Given the description of an element on the screen output the (x, y) to click on. 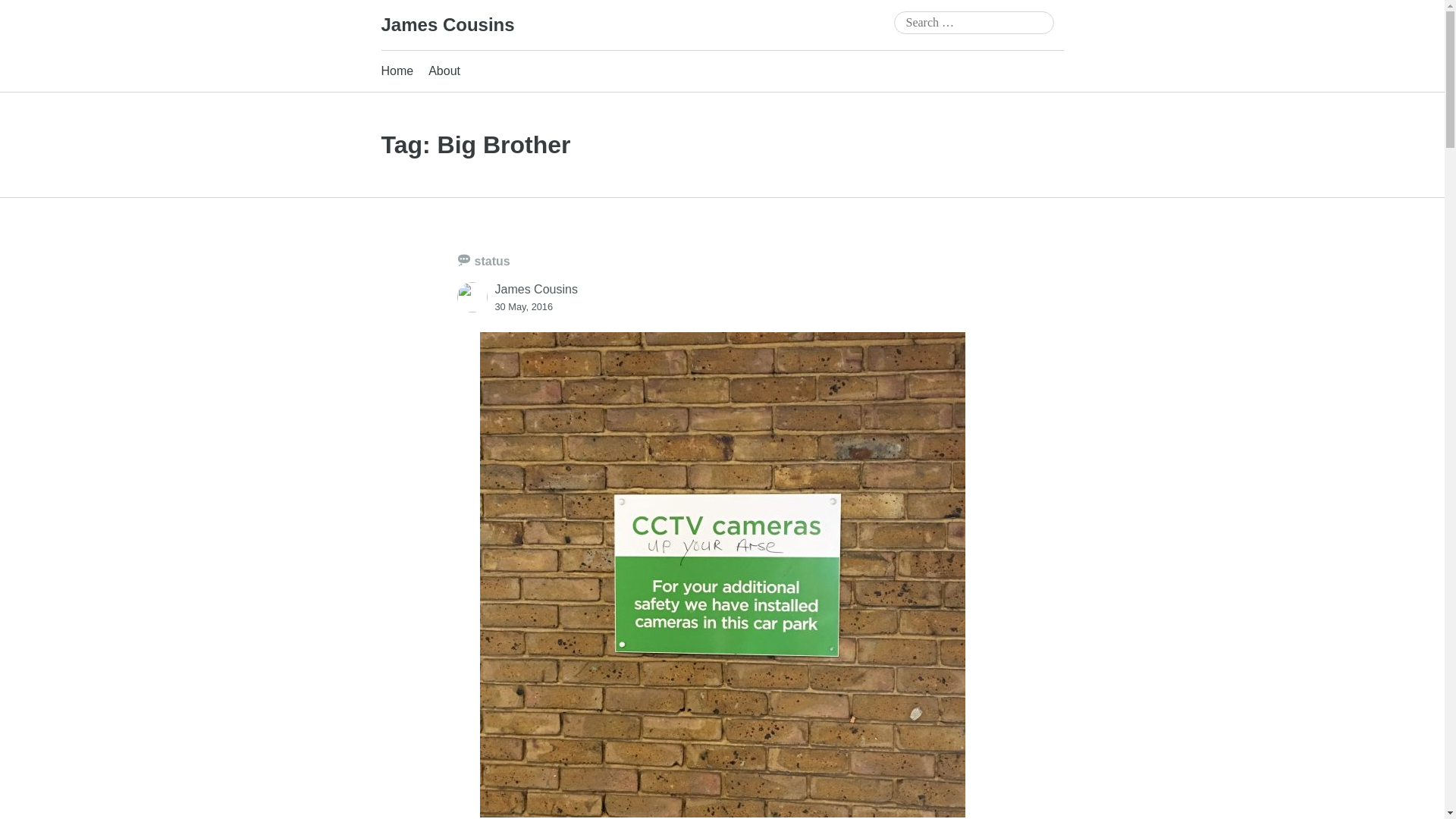
View all posts by James Cousins (535, 288)
About (444, 70)
Search (32, 14)
Search (25, 11)
James Cousins (446, 24)
30 May, 2016 (524, 305)
status (483, 260)
James Cousins (446, 24)
6:18 pm (524, 305)
Home (396, 70)
